Given the description of an element on the screen output the (x, y) to click on. 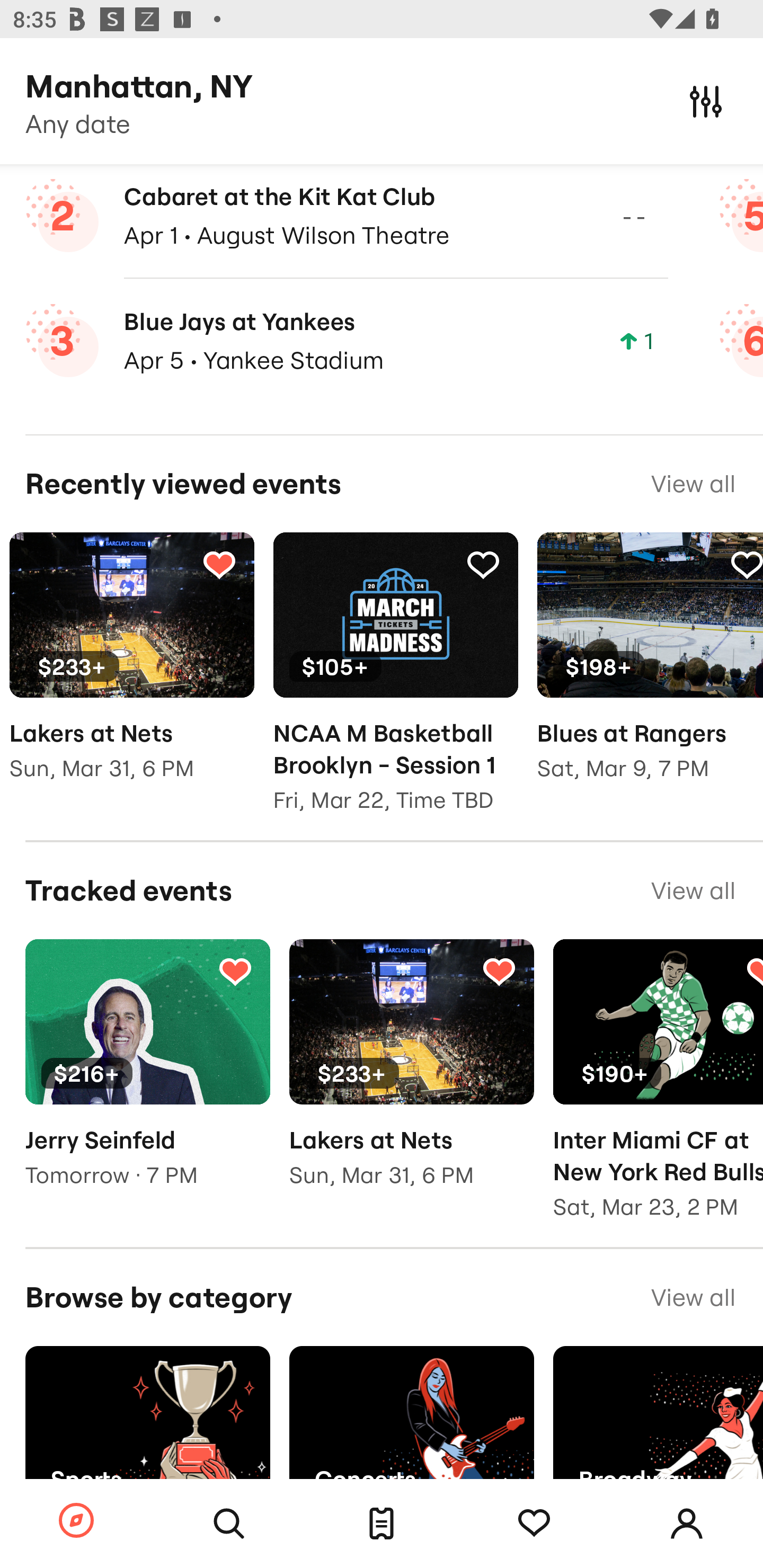
Filters (705, 100)
View all (693, 484)
Tracking $233+ Lakers at Nets Sun, Mar 31, 6 PM (131, 670)
Tracking $198+ Blues at Rangers Sat, Mar 9, 7 PM (650, 670)
Tracking (218, 564)
Tracking (482, 564)
Tracking (745, 564)
View all (693, 890)
Tracking $216+ Jerry Seinfeld Tomorrow · 7 PM (147, 1076)
Tracking $233+ Lakers at Nets Sun, Mar 31, 6 PM (411, 1076)
Tracking (234, 970)
Tracking (498, 970)
View all (693, 1297)
Sports (147, 1428)
Concerts (411, 1428)
Broadway (658, 1428)
Browse (76, 1521)
Search (228, 1523)
Tickets (381, 1523)
Tracking (533, 1523)
Account (686, 1523)
